Given the description of an element on the screen output the (x, y) to click on. 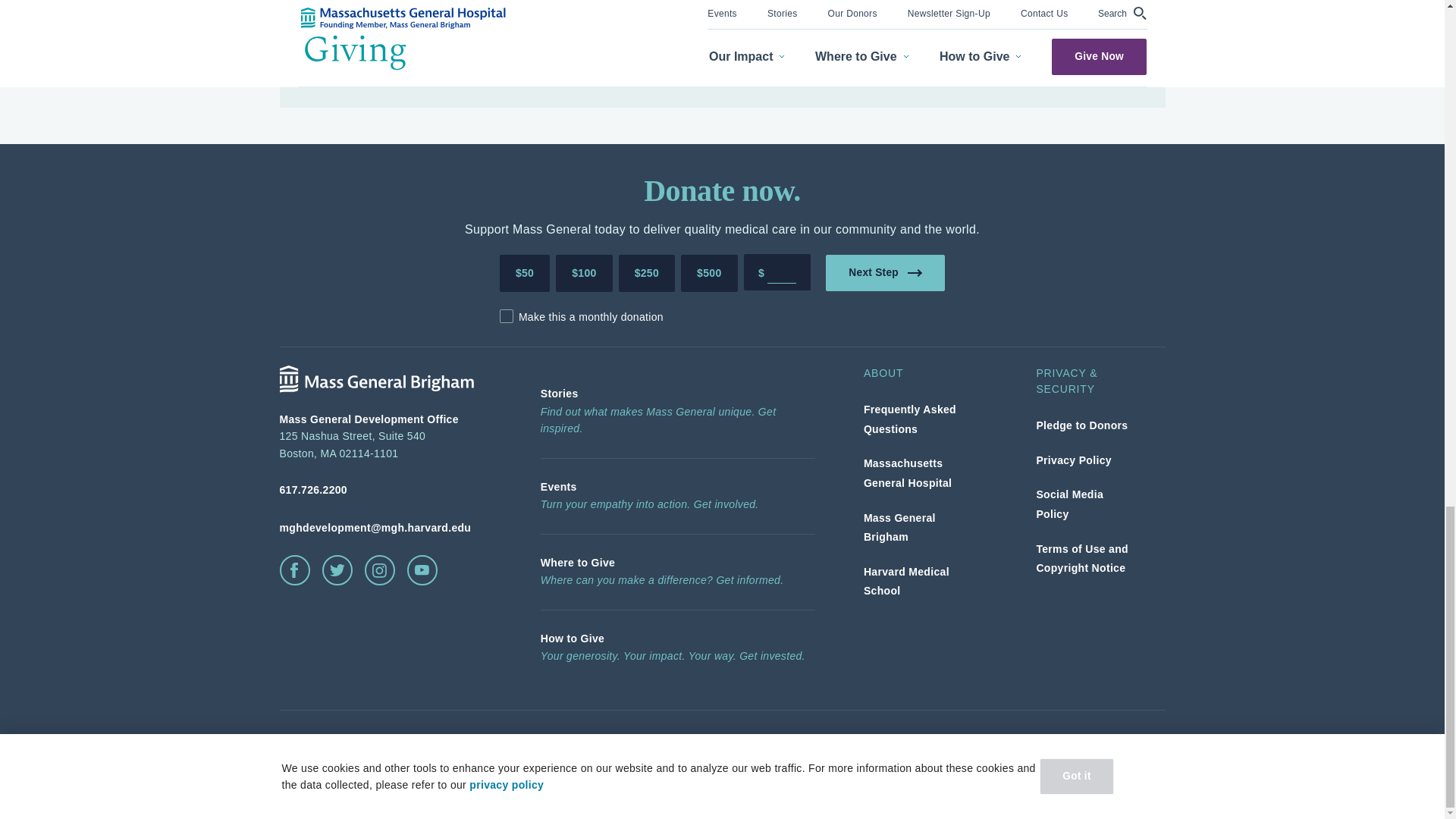
Subscribe (1079, 55)
